Given the description of an element on the screen output the (x, y) to click on. 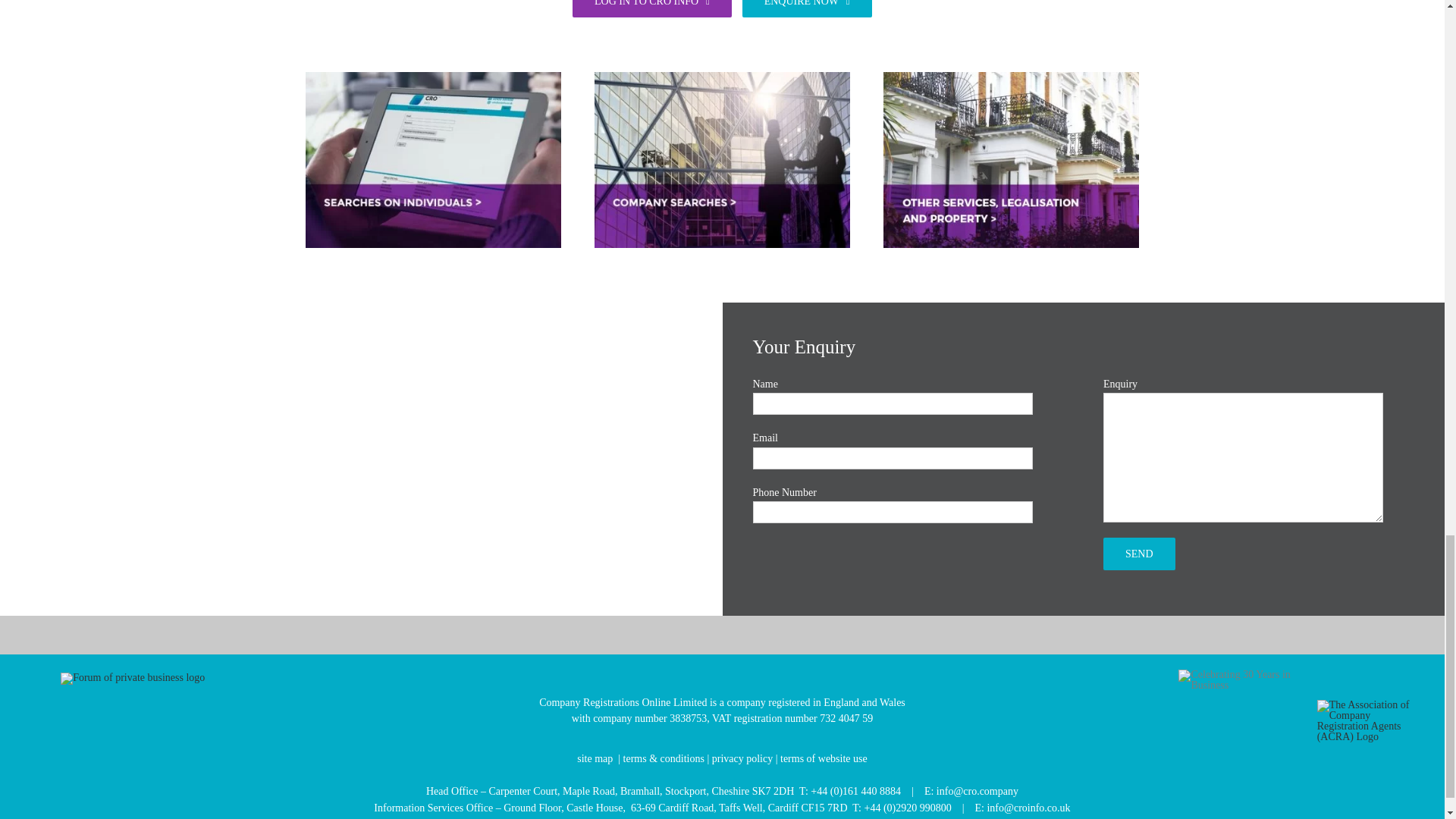
Celebrating 30 Years in Business (1241, 680)
LOG IN TO CRO INFO ENQUIRE NOW (722, 16)
Enquire Now (807, 8)
Send (652, 8)
